Given the description of an element on the screen output the (x, y) to click on. 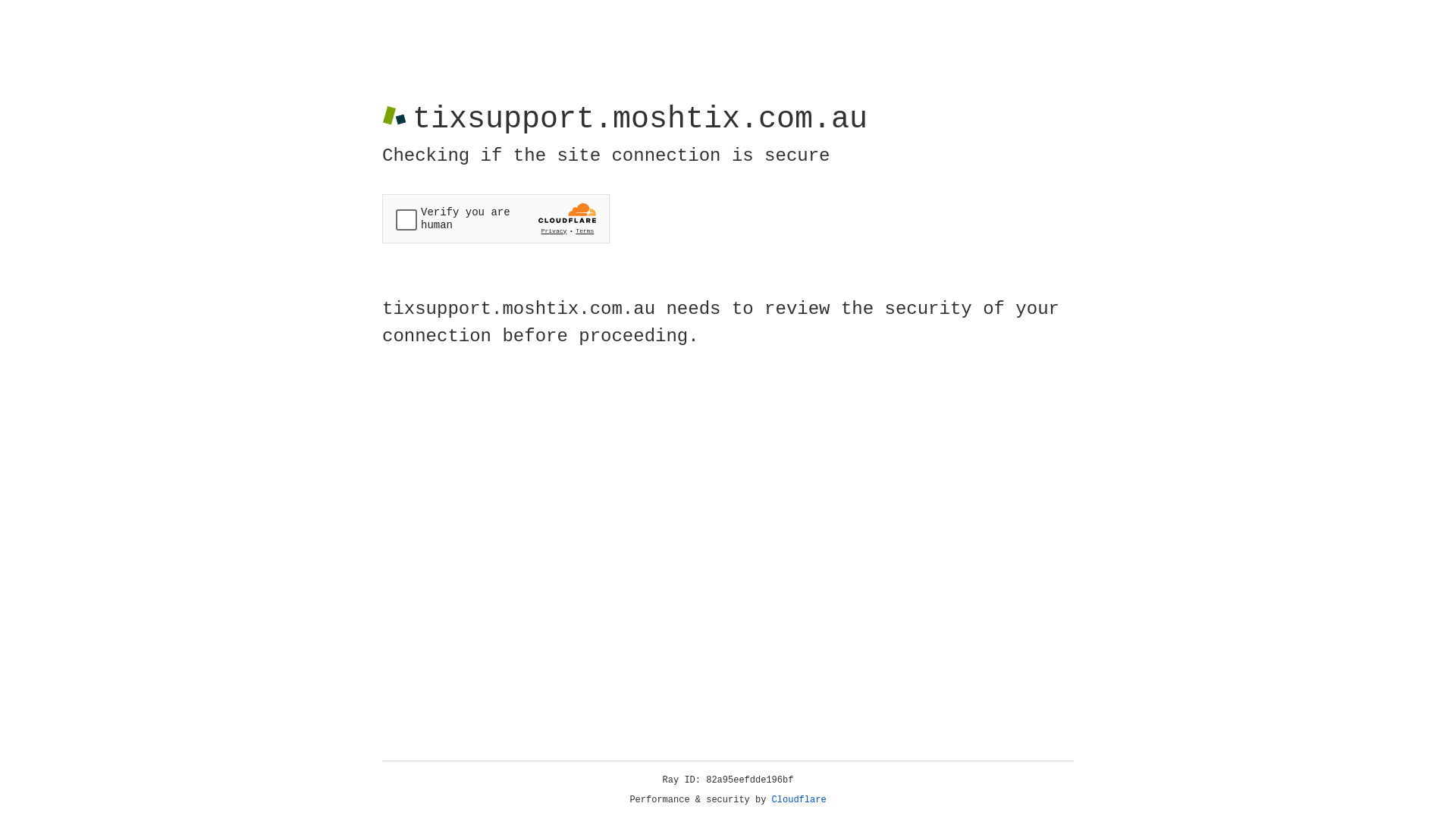
Cloudflare Element type: text (798, 799)
Widget containing a Cloudflare security challenge Element type: hover (495, 218)
